Given the description of an element on the screen output the (x, y) to click on. 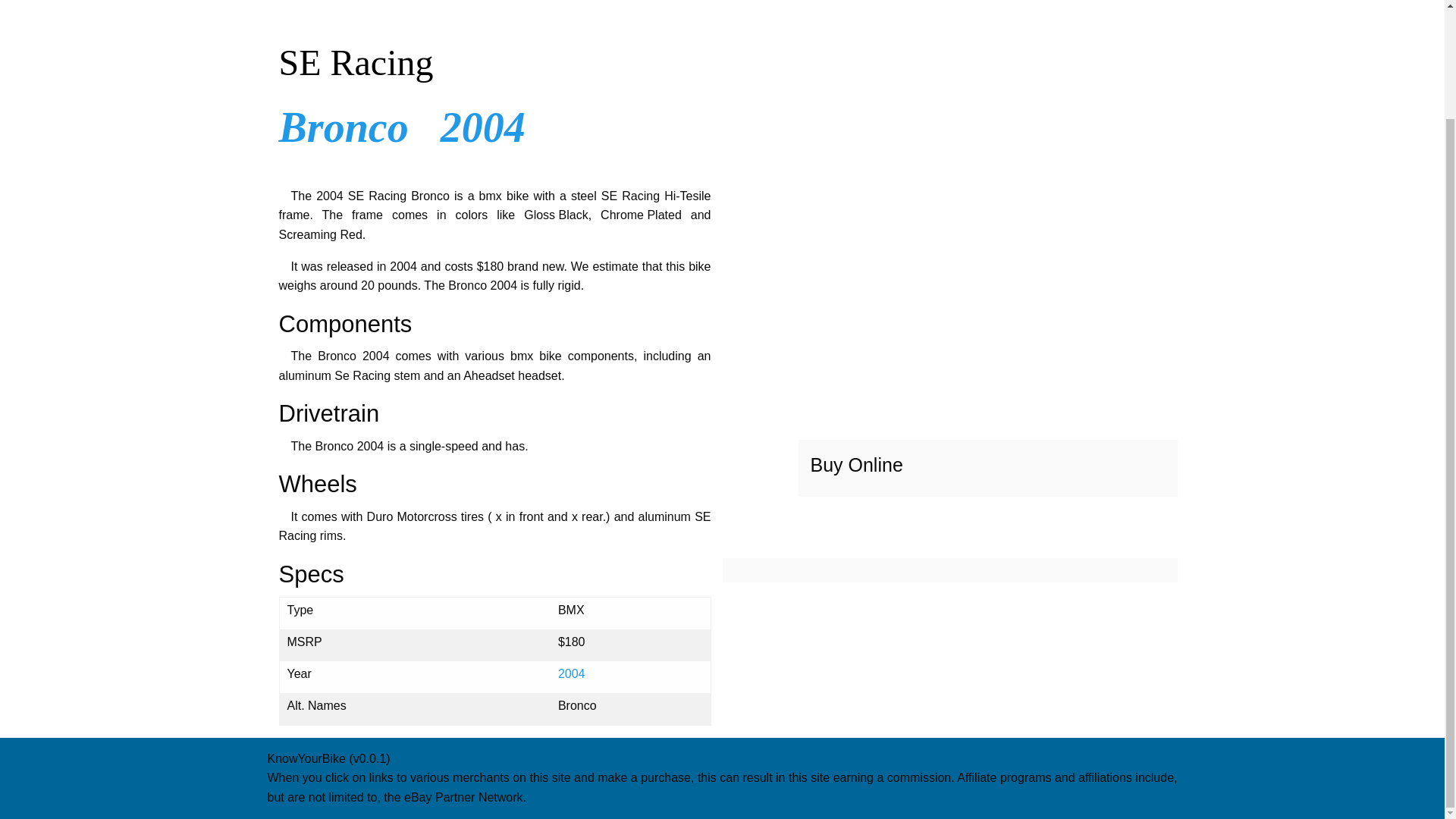
2004 (571, 673)
SE Racing (495, 61)
2004 (483, 127)
Bronco (344, 127)
